Given the description of an element on the screen output the (x, y) to click on. 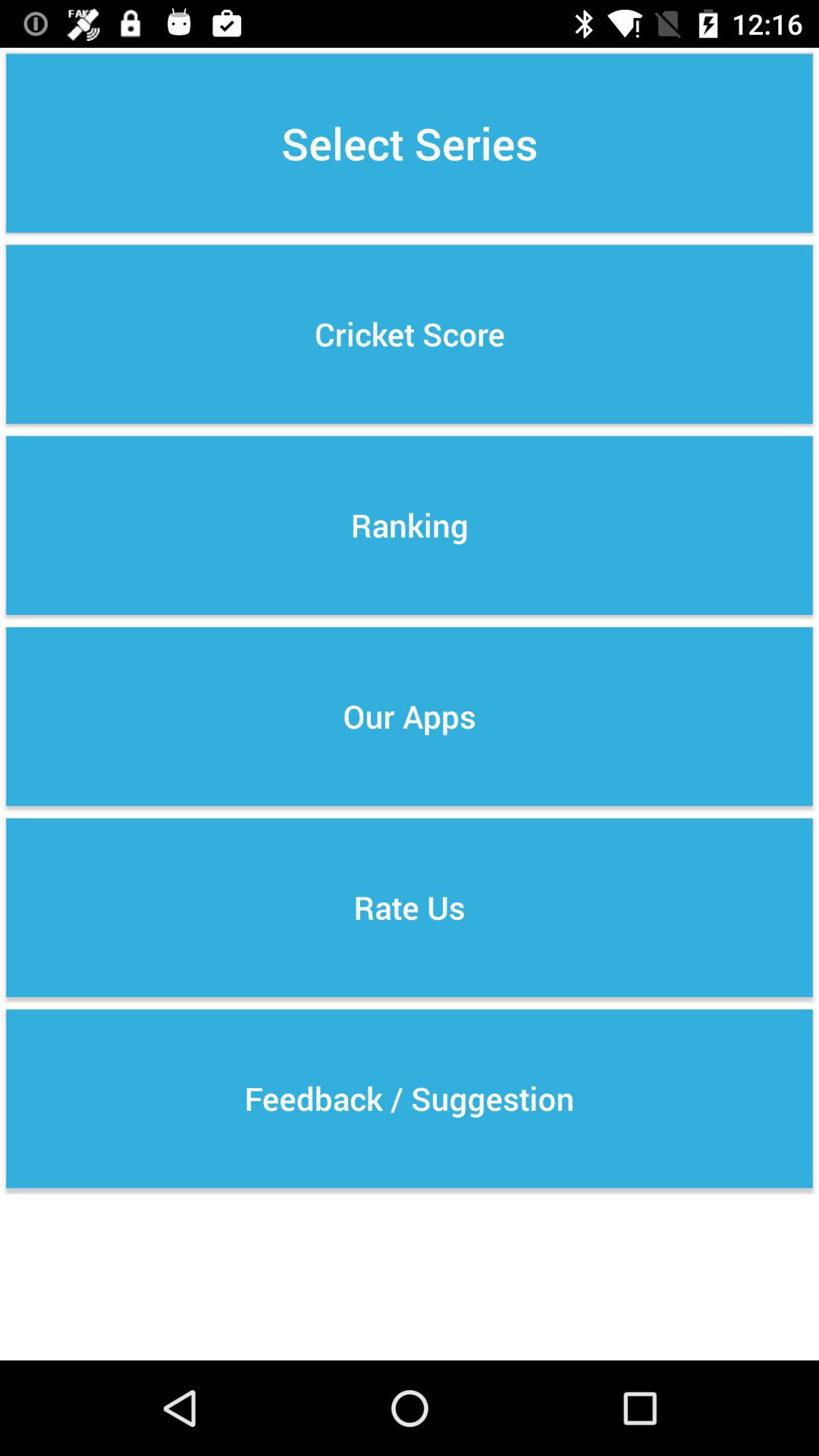
choose the icon above feedback / suggestion icon (409, 907)
